Given the description of an element on the screen output the (x, y) to click on. 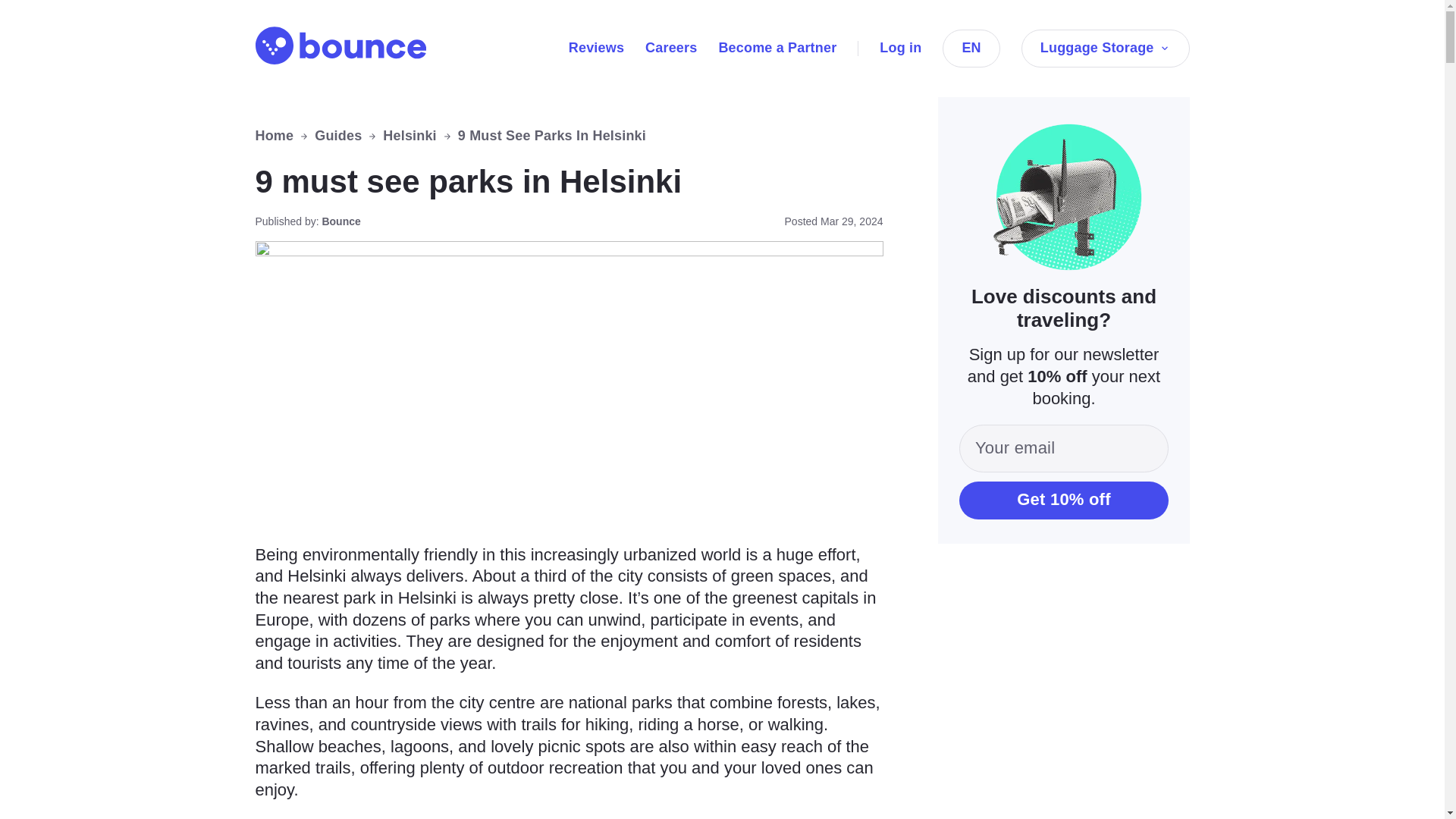
Guides (337, 135)
Home (274, 135)
Helsinki (408, 135)
Luggage Storage (1105, 48)
Reviews (596, 47)
Bounce (339, 45)
Careers (671, 47)
Become a Partner (776, 47)
EN (970, 48)
Log in (900, 47)
